Given the description of an element on the screen output the (x, y) to click on. 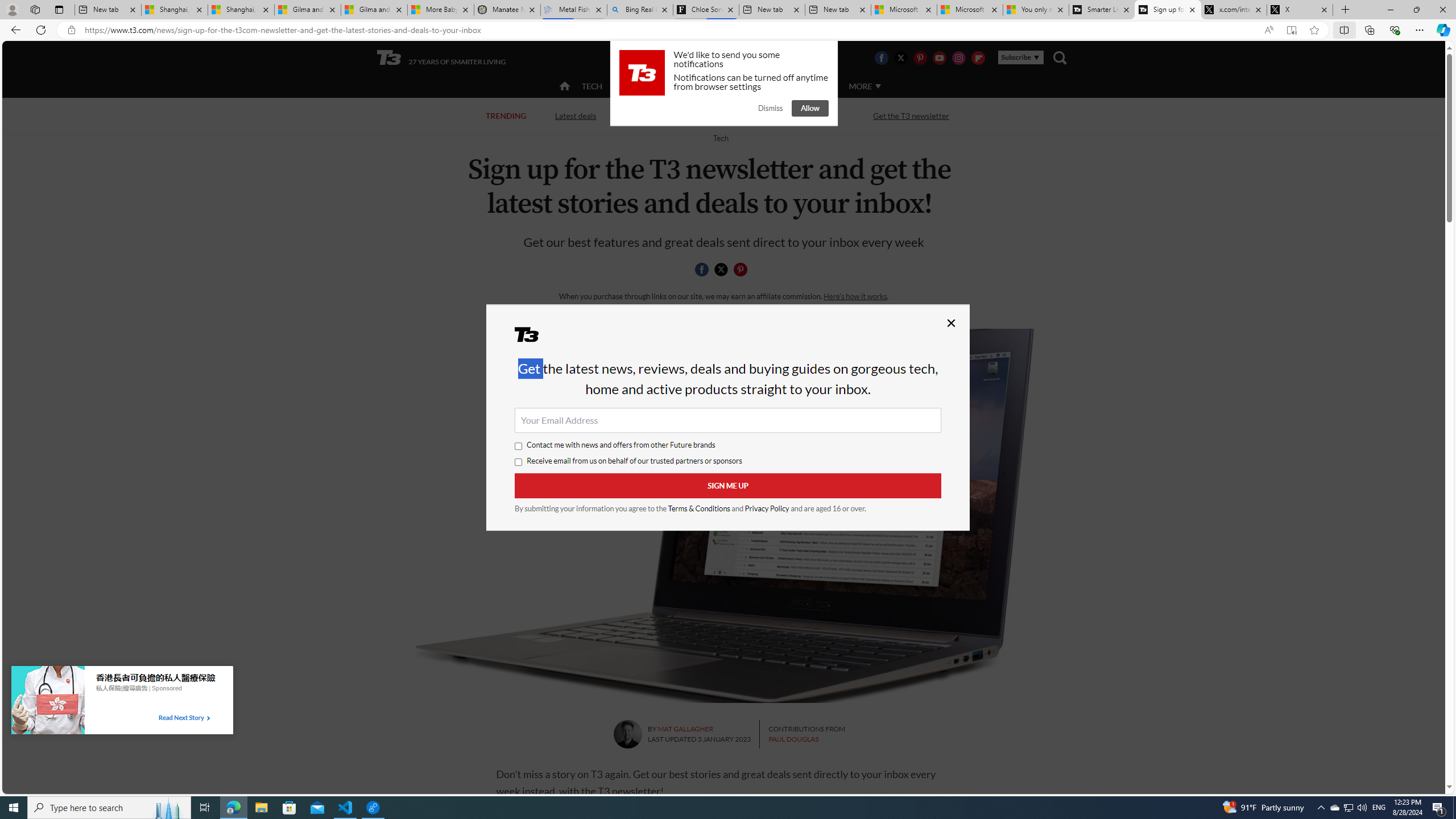
Visit us on Facebook (880, 57)
TECH (591, 86)
Class: navigation__item (563, 86)
Contact me with news and offers from other Future brands (518, 446)
Class: tbl-arrow-icon arrow-2 (208, 717)
Get the T3 newsletter (911, 115)
Allow (810, 107)
Class: tbl-arrow-icon arrow-1 (208, 717)
Latest deals (574, 115)
